Given the description of an element on the screen output the (x, y) to click on. 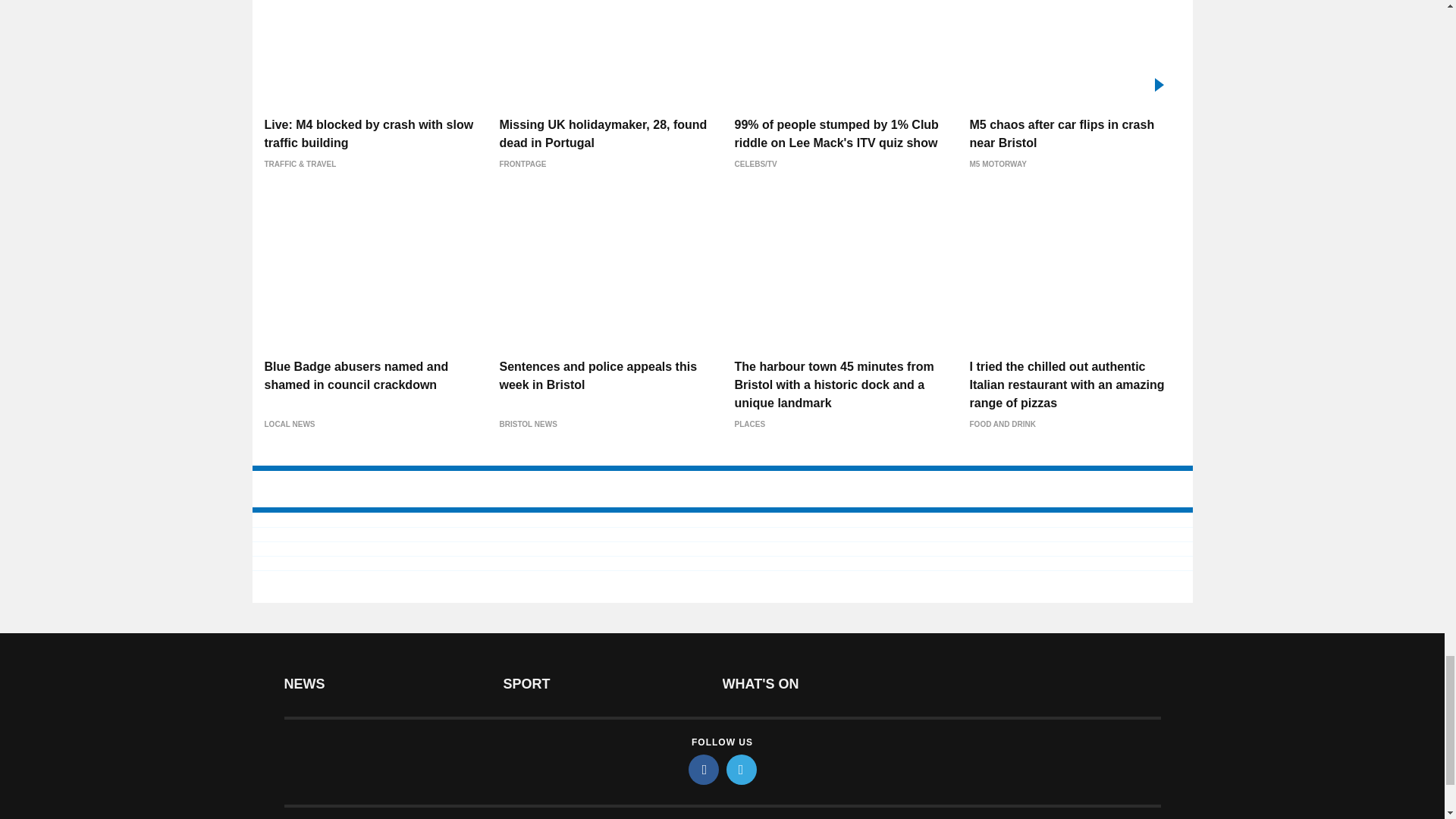
facebook (703, 769)
twitter (741, 769)
